Given the description of an element on the screen output the (x, y) to click on. 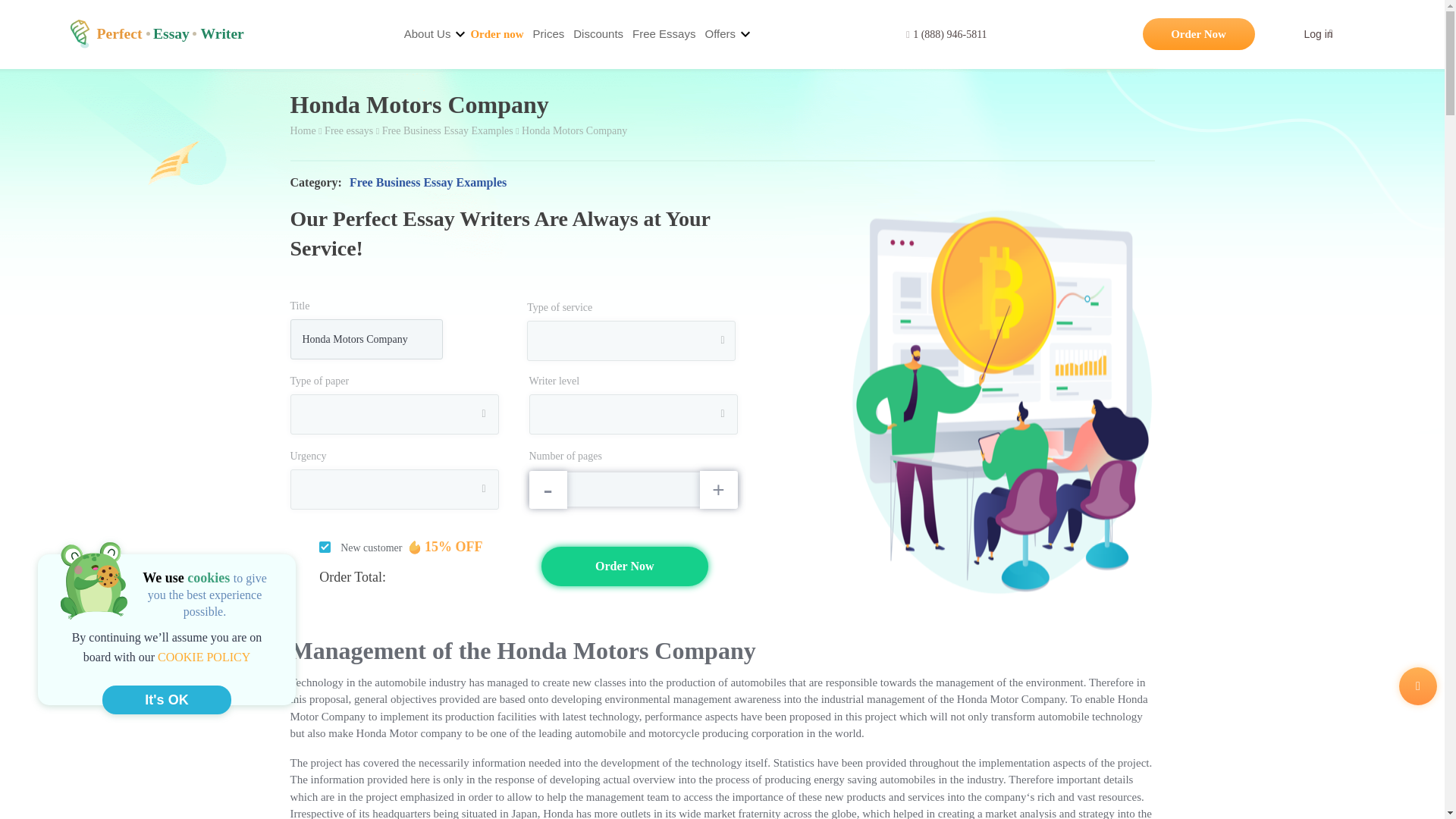
Discounts (598, 33)
Minus (548, 489)
It's OK (166, 699)
COOKIE POLICY (203, 656)
About Us (427, 33)
Home (156, 33)
Perfect Essay Writer (156, 33)
Offers (719, 33)
Plus (717, 489)
Prices (548, 33)
